Given the description of an element on the screen output the (x, y) to click on. 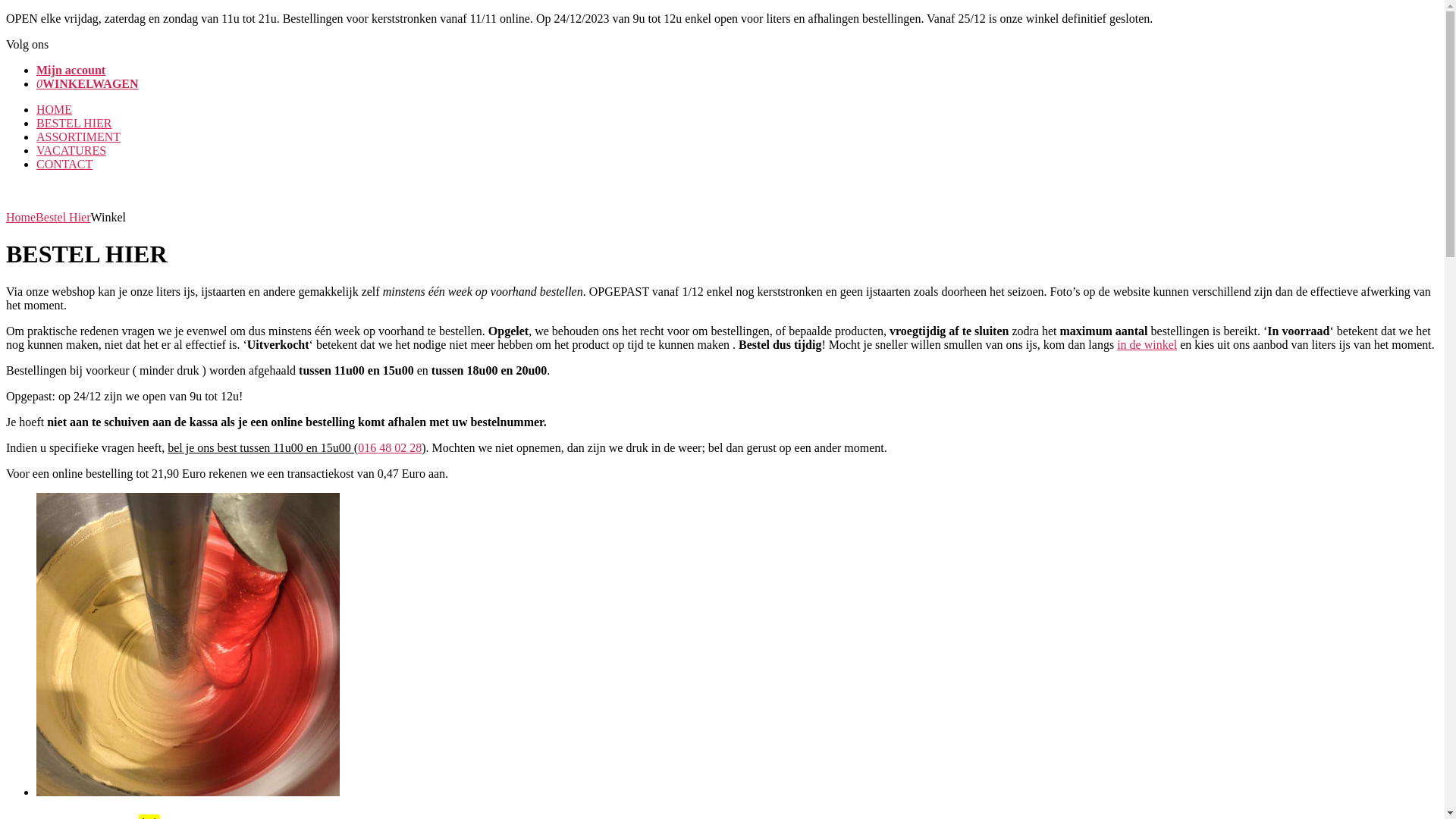
ASSORTIMENT Element type: text (78, 136)
Home Element type: text (20, 216)
BESTEL HIER Element type: text (73, 122)
VACATURES Element type: text (71, 150)
Bestel Hier Element type: text (62, 216)
in de winkel Element type: text (1146, 344)
CONTACT Element type: text (64, 163)
016 48 02 28 Element type: text (389, 447)
Mijn account Element type: text (70, 69)
HOME Element type: text (54, 109)
0WINKELWAGEN Element type: text (87, 83)
